Given the description of an element on the screen output the (x, y) to click on. 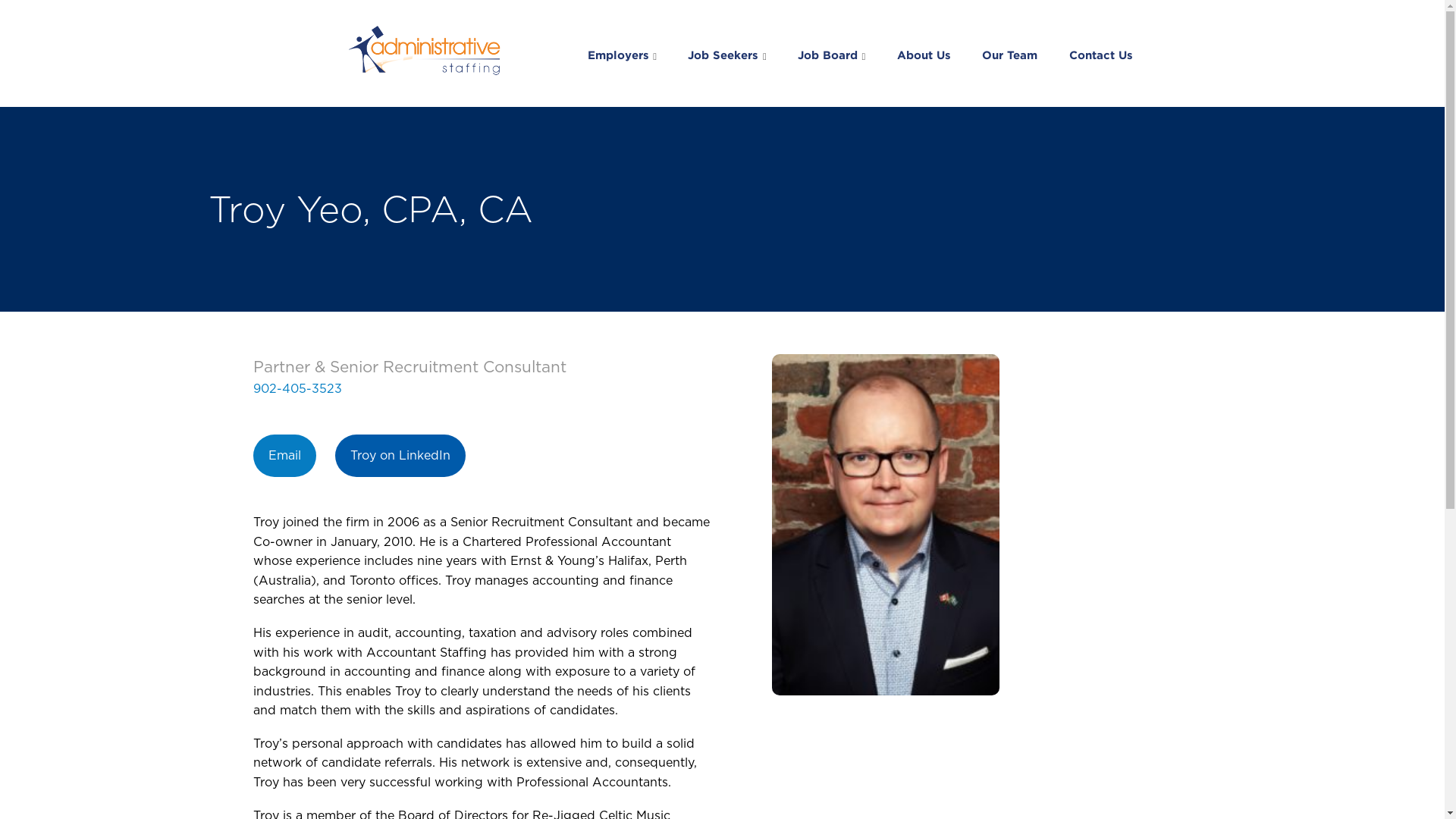
Home Element type: hover (426, 51)
Skip to main content Element type: text (0, 0)
902-405-3523 Element type: text (297, 388)
About Us Element type: text (923, 53)
Troy on LinkedIn Element type: text (400, 455)
Email Element type: text (284, 455)
Contact Us Element type: text (1096, 53)
Our Team Element type: text (1009, 53)
